Given the description of an element on the screen output the (x, y) to click on. 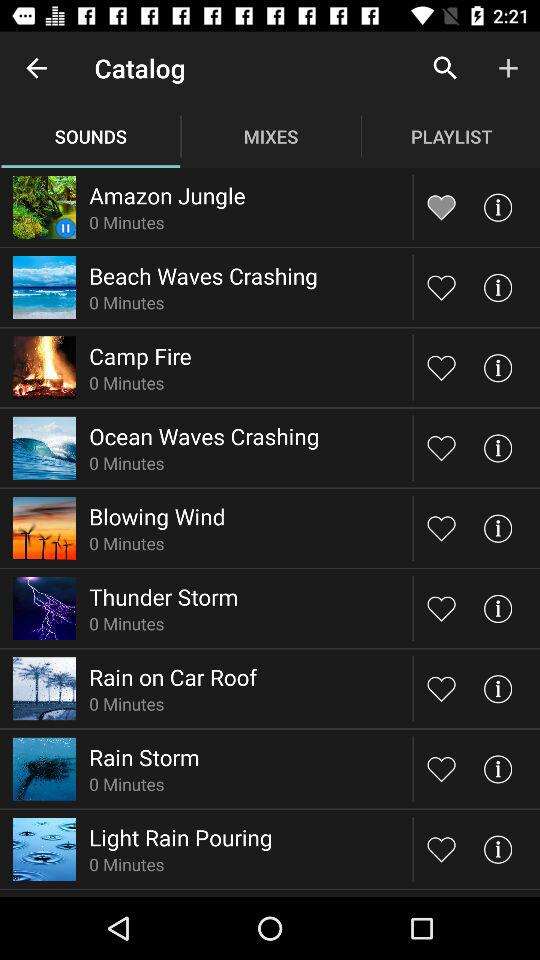
love this sound (441, 447)
